Given the description of an element on the screen output the (x, y) to click on. 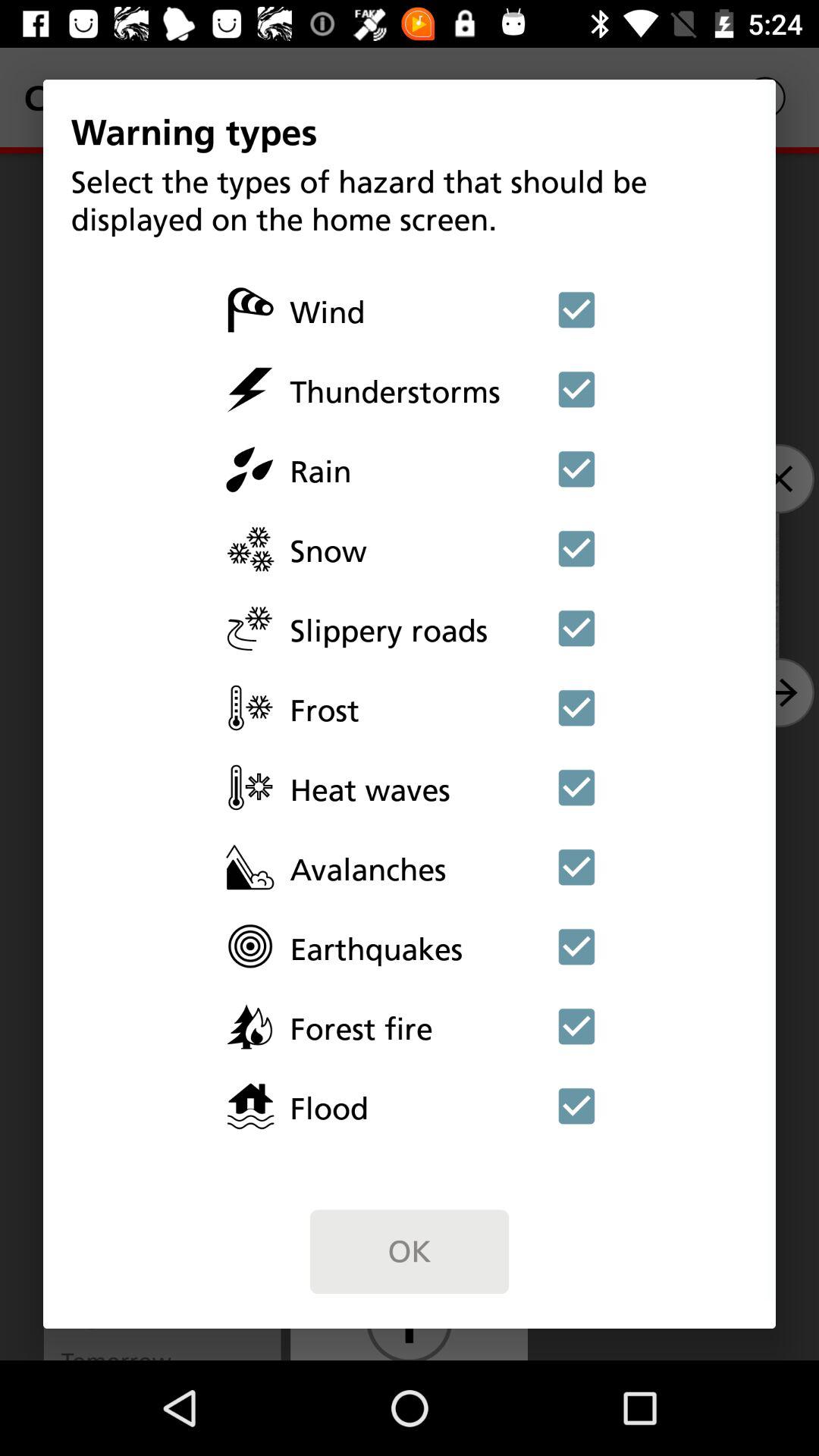
heat waves check box (576, 787)
